Given the description of an element on the screen output the (x, y) to click on. 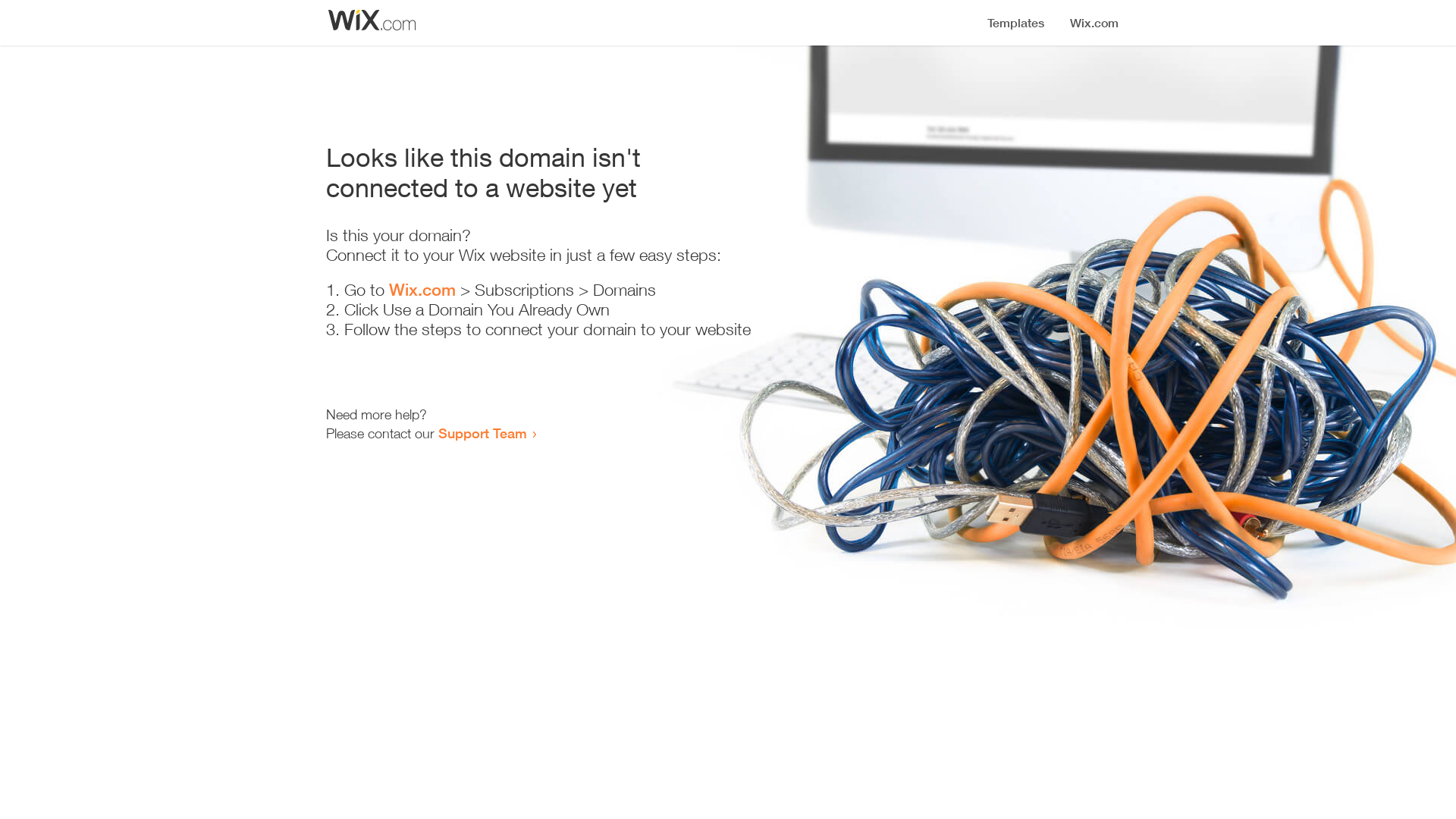
Support Team Element type: text (482, 432)
Wix.com Element type: text (422, 289)
